Given the description of an element on the screen output the (x, y) to click on. 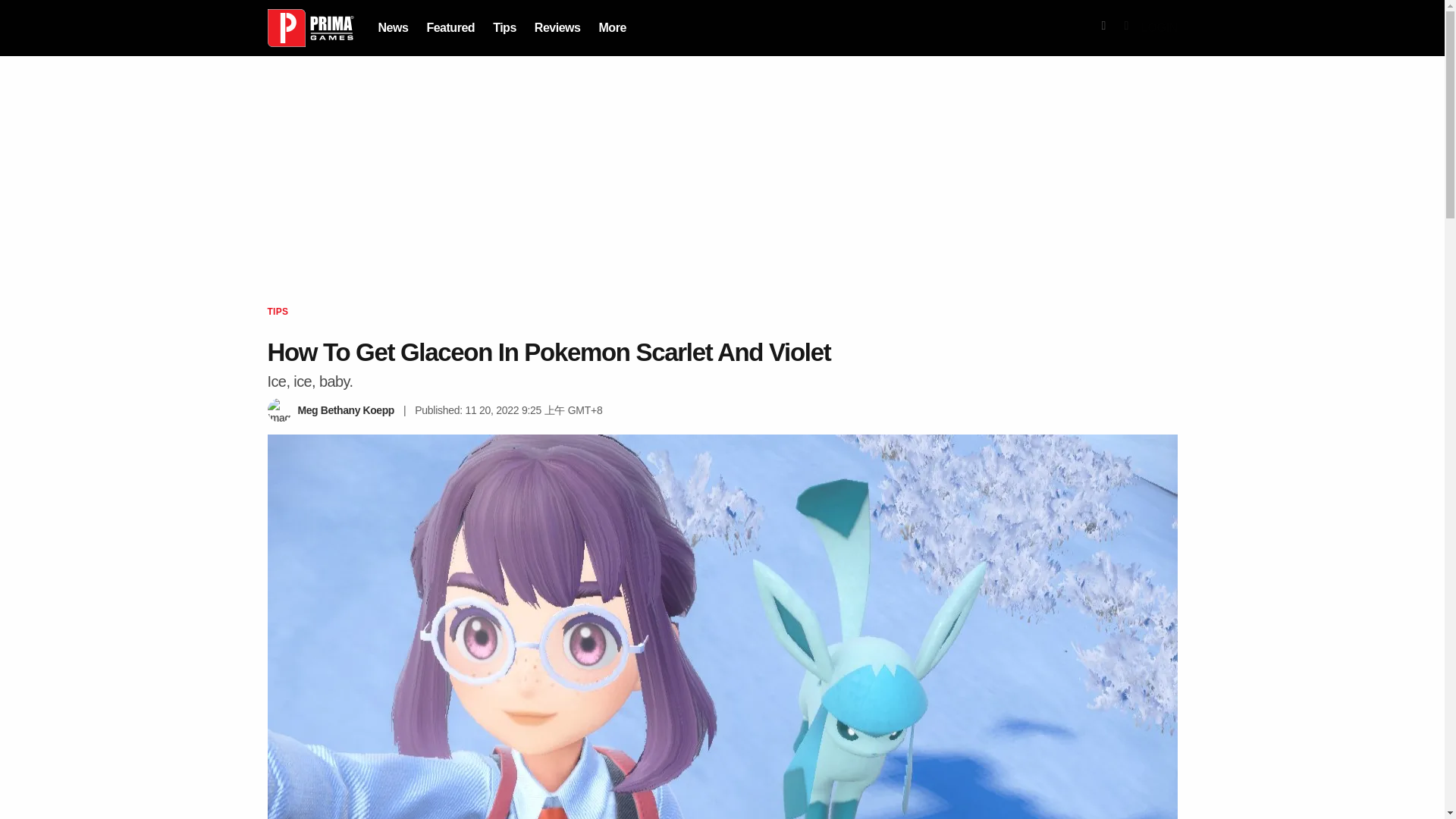
Reviews (557, 27)
Tips (504, 27)
TIPS (277, 310)
News (392, 27)
Featured (450, 27)
LOGIN (1158, 28)
